Given the description of an element on the screen output the (x, y) to click on. 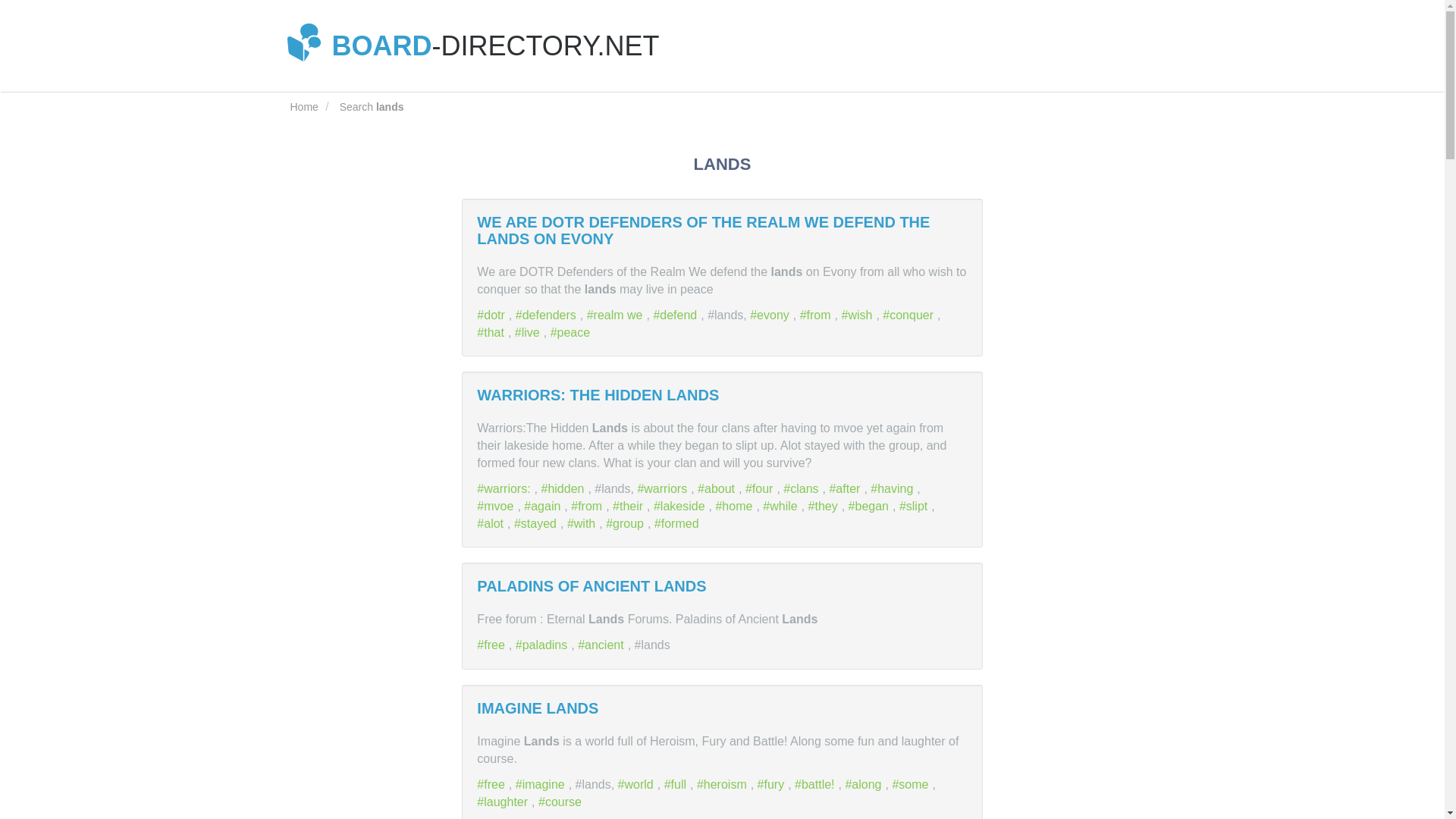
while (781, 505)
dotr (492, 314)
clans (802, 488)
live (529, 332)
mvoe (496, 505)
defenders (547, 314)
hidden (564, 488)
after (845, 488)
defend (676, 314)
home (734, 505)
hidden (564, 488)
clans (802, 488)
four (760, 488)
warriors (663, 488)
